Given the description of an element on the screen output the (x, y) to click on. 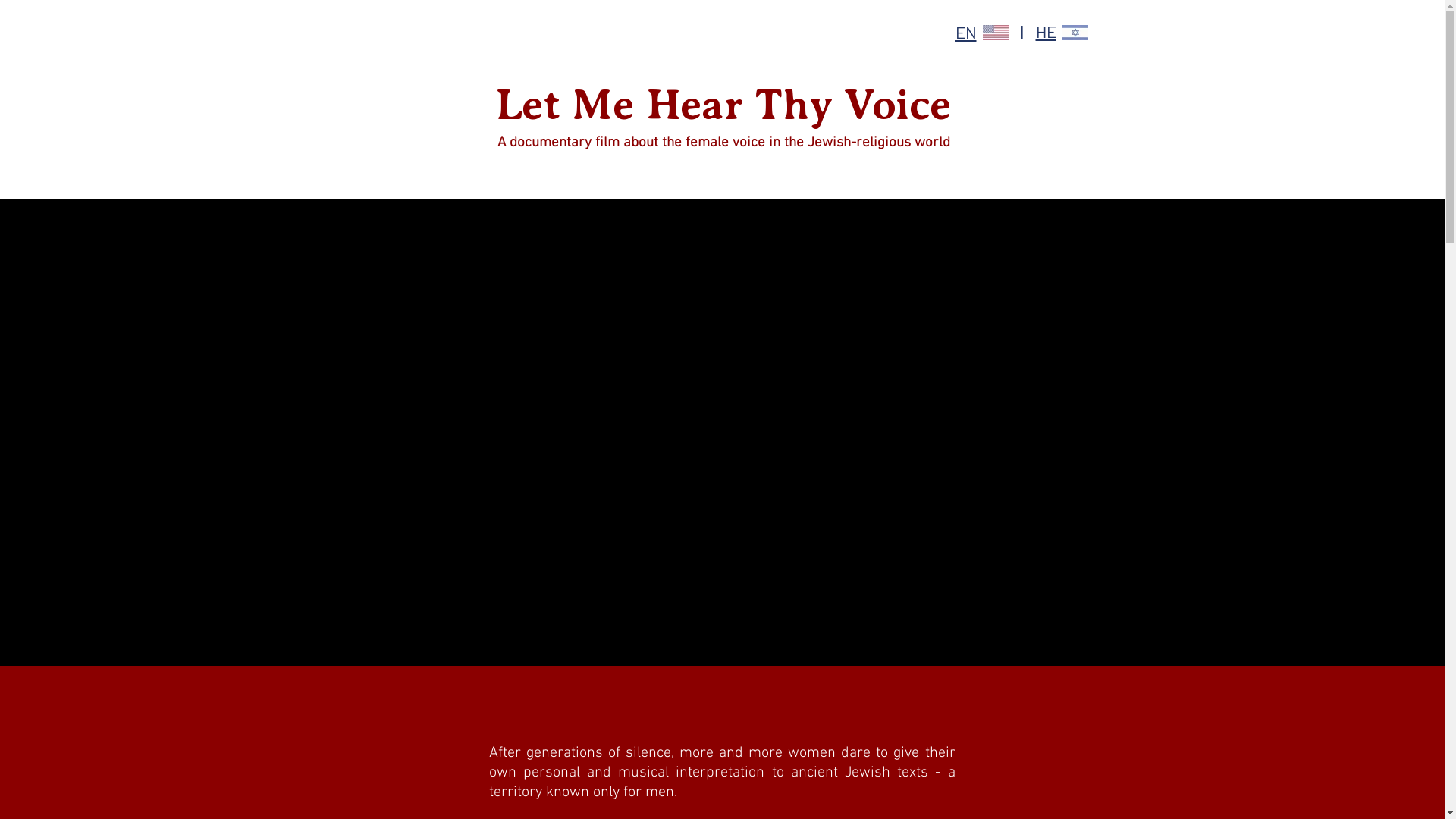
External Vimeo Element type: hover (721, 439)
EN Element type: text (965, 32)
| Element type: text (1021, 31)
HE Element type: text (1045, 31)
